Given the description of an element on the screen output the (x, y) to click on. 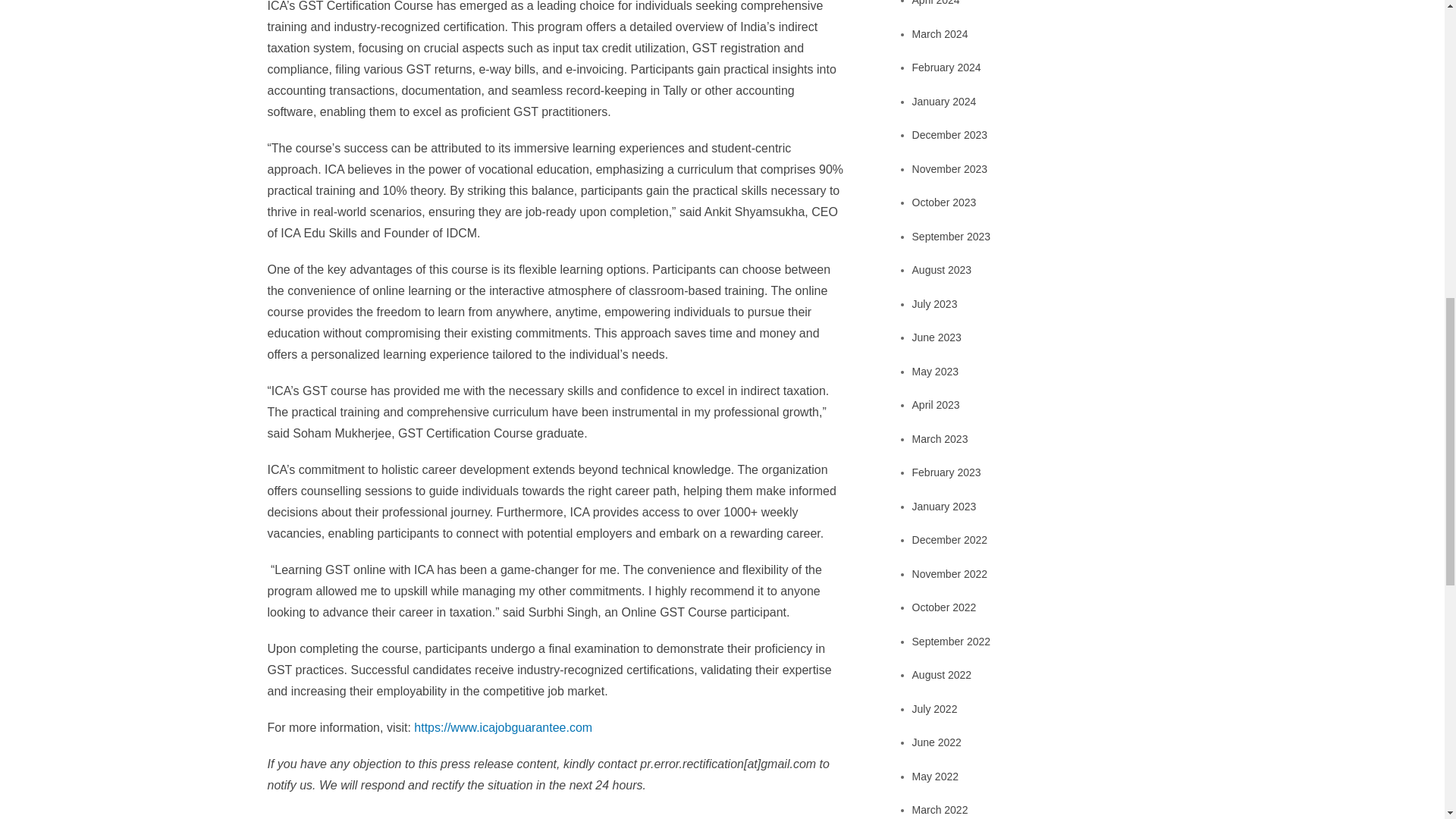
April 2024 (935, 2)
March 2024 (940, 33)
January 2024 (944, 101)
February 2024 (946, 67)
December 2023 (950, 134)
